Given the description of an element on the screen output the (x, y) to click on. 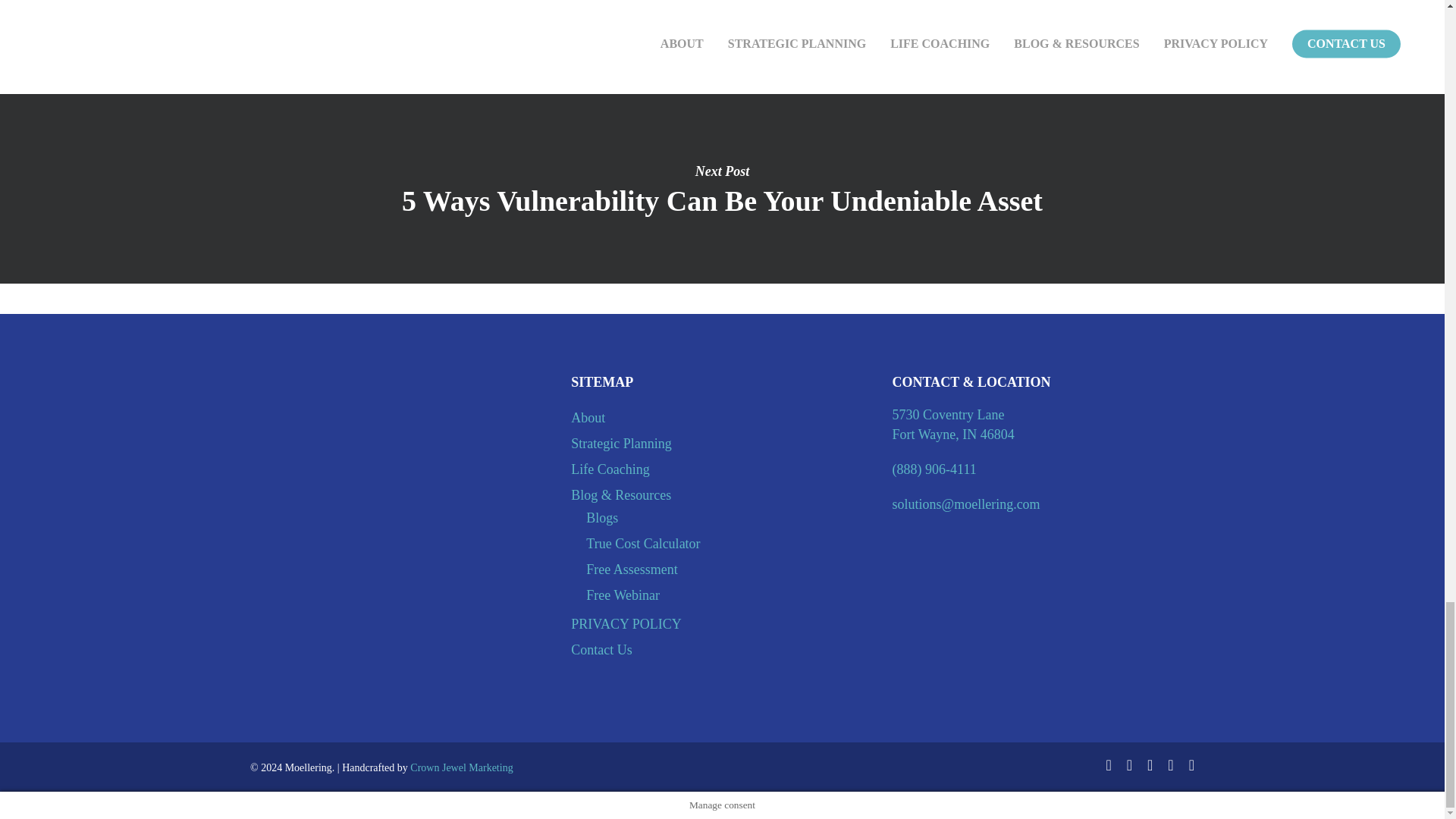
Free Webinar (729, 595)
PRIVACY POLICY (721, 623)
Contact Us (721, 649)
Crown Jewel Marketing (461, 767)
Life Coaching (721, 469)
About (721, 417)
True Cost Calculator (729, 543)
Blogs (729, 517)
Free Assessment (729, 569)
Strategic Planning (721, 443)
